Given the description of an element on the screen output the (x, y) to click on. 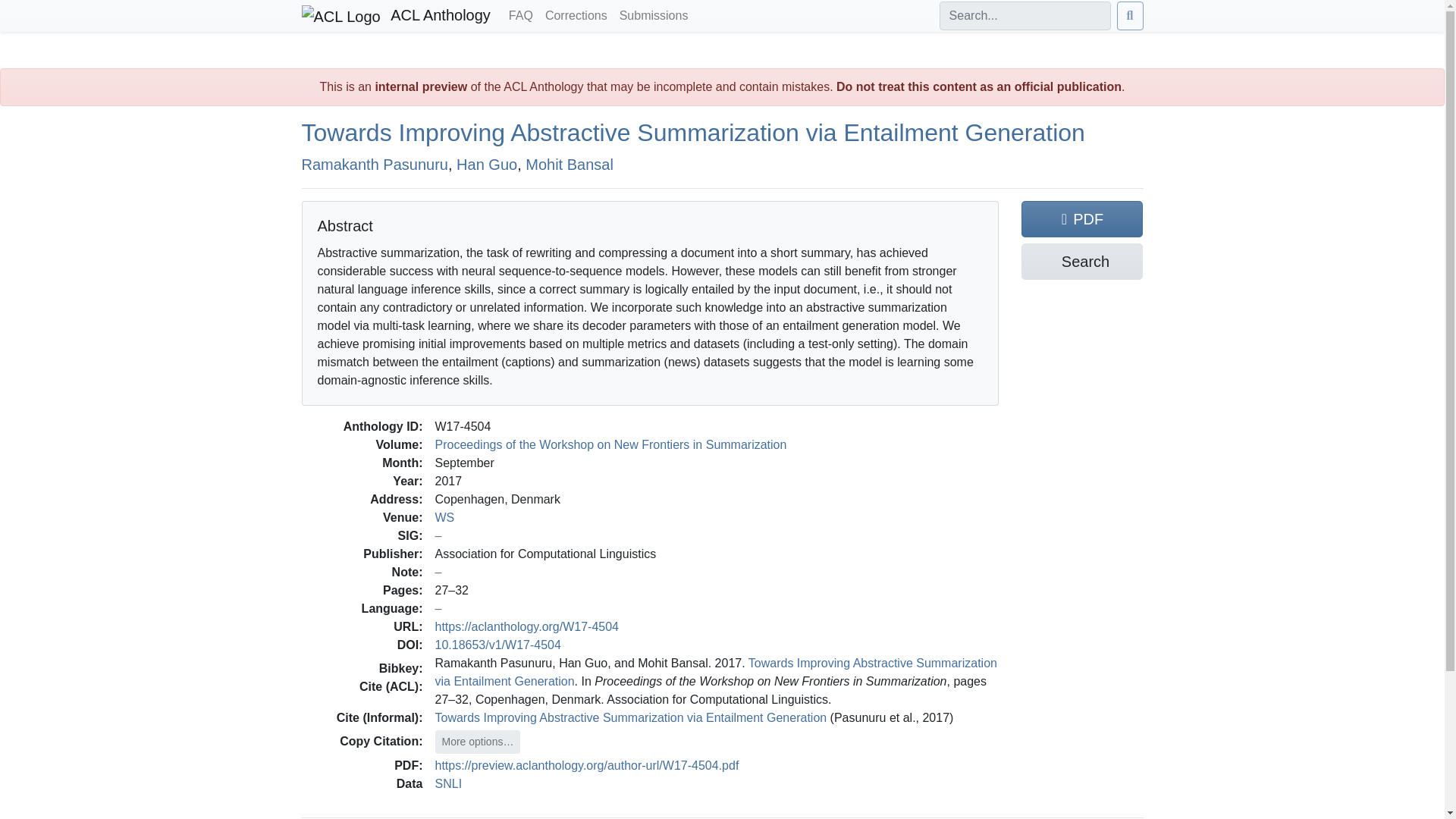
PDF (1082, 218)
ACL Anthology (395, 15)
Search (1082, 261)
Han Guo (486, 164)
Ramakanth Pasunuru (374, 164)
To the current version of the paper by DOI (497, 644)
Mohit Bansal (568, 164)
SNLI (449, 783)
WS (444, 517)
